Given the description of an element on the screen output the (x, y) to click on. 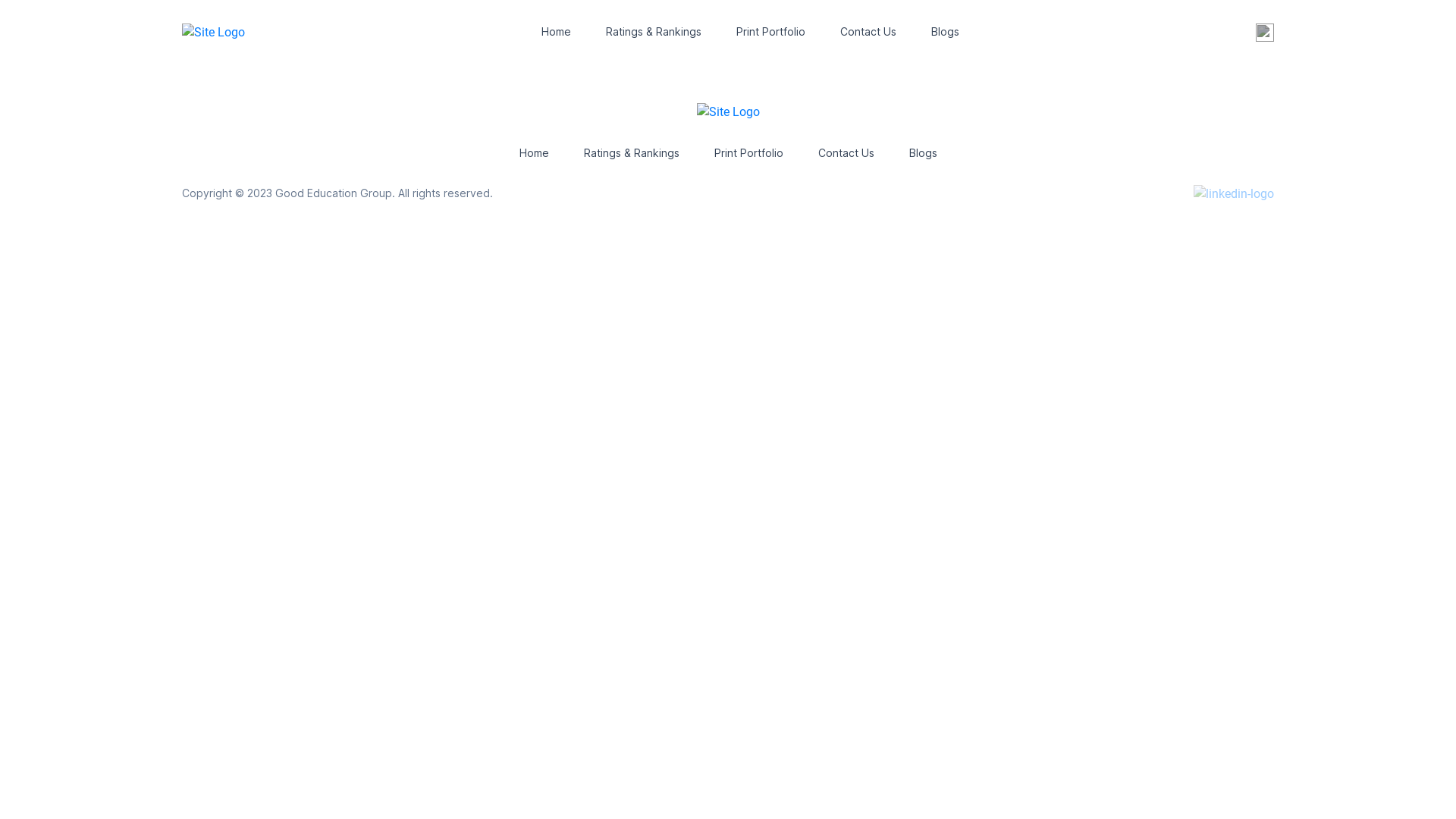
Blogs Element type: text (922, 152)
Blogs Element type: text (945, 30)
Ratings & Rankings Element type: text (631, 152)
Print Portfolio Element type: text (770, 30)
Home Element type: text (533, 152)
Contact Us Element type: text (868, 30)
Ratings & Rankings Element type: text (653, 30)
Contact Us Element type: text (845, 152)
Home Element type: text (556, 30)
Print Portfolio Element type: text (748, 152)
